Given the description of an element on the screen output the (x, y) to click on. 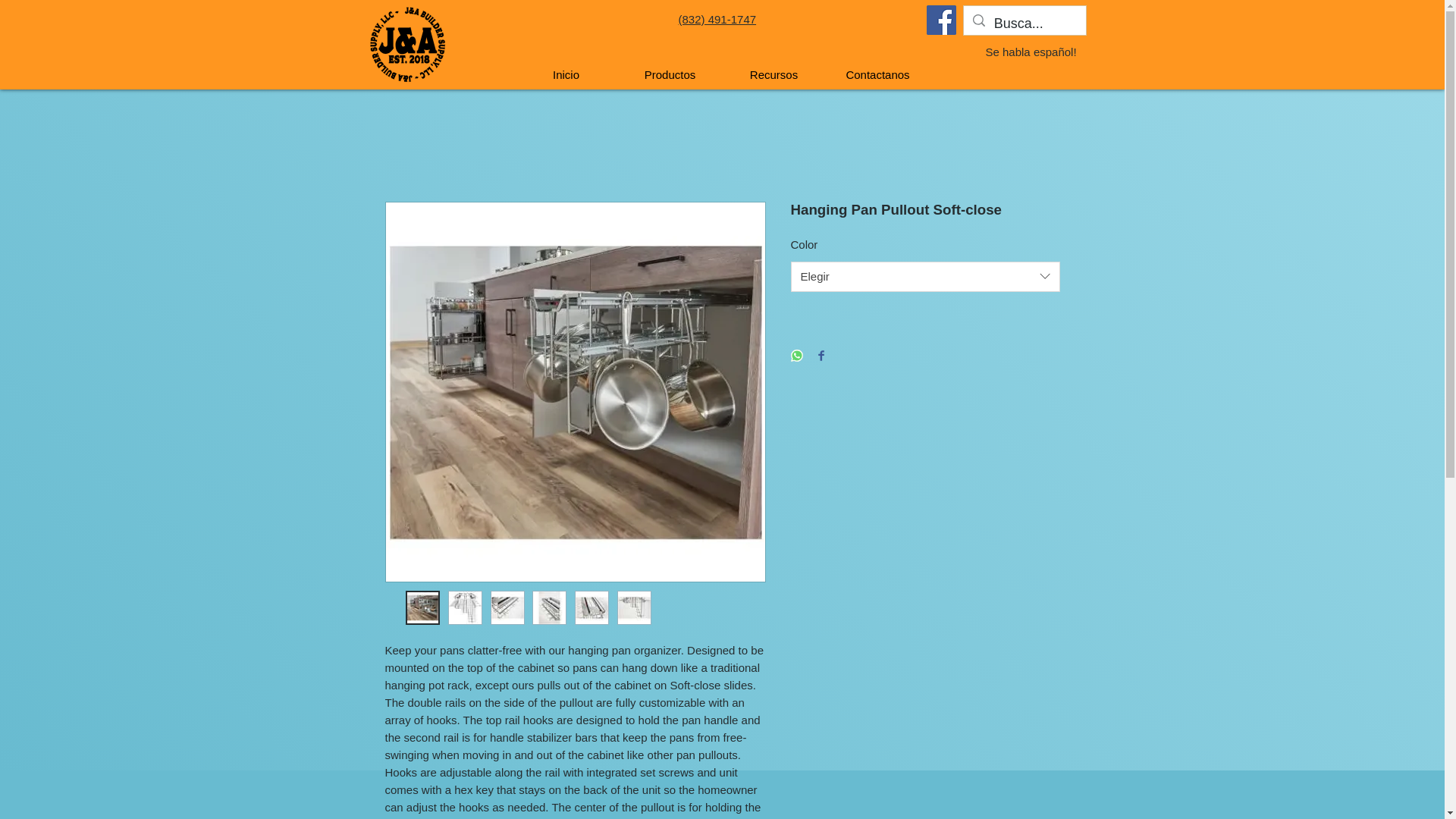
Inicio (565, 74)
Productos (669, 74)
Elegir (924, 276)
Contactanos (877, 74)
